Given the description of an element on the screen output the (x, y) to click on. 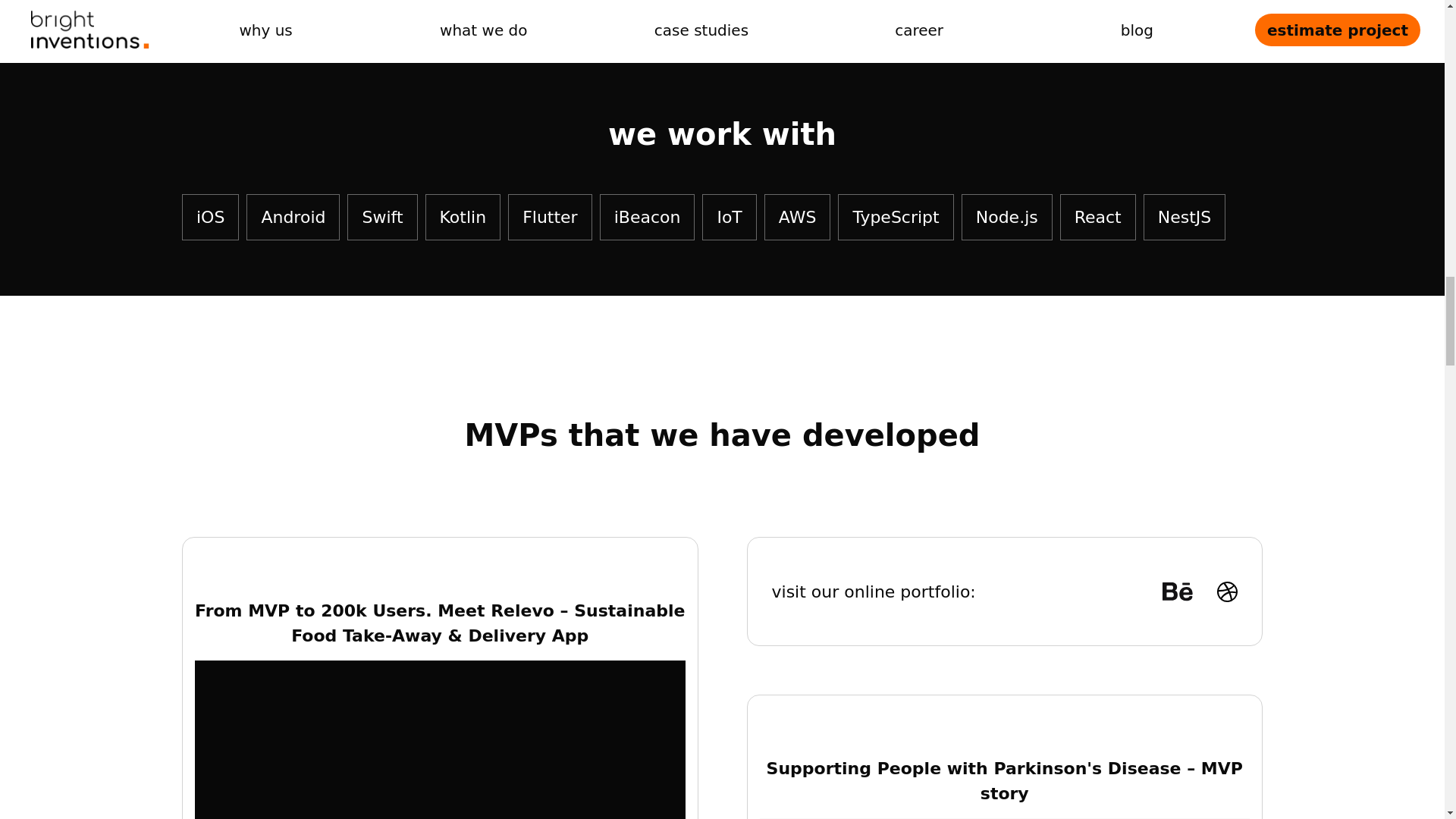
Dribble (1227, 591)
Behance (1176, 591)
